Given the description of an element on the screen output the (x, y) to click on. 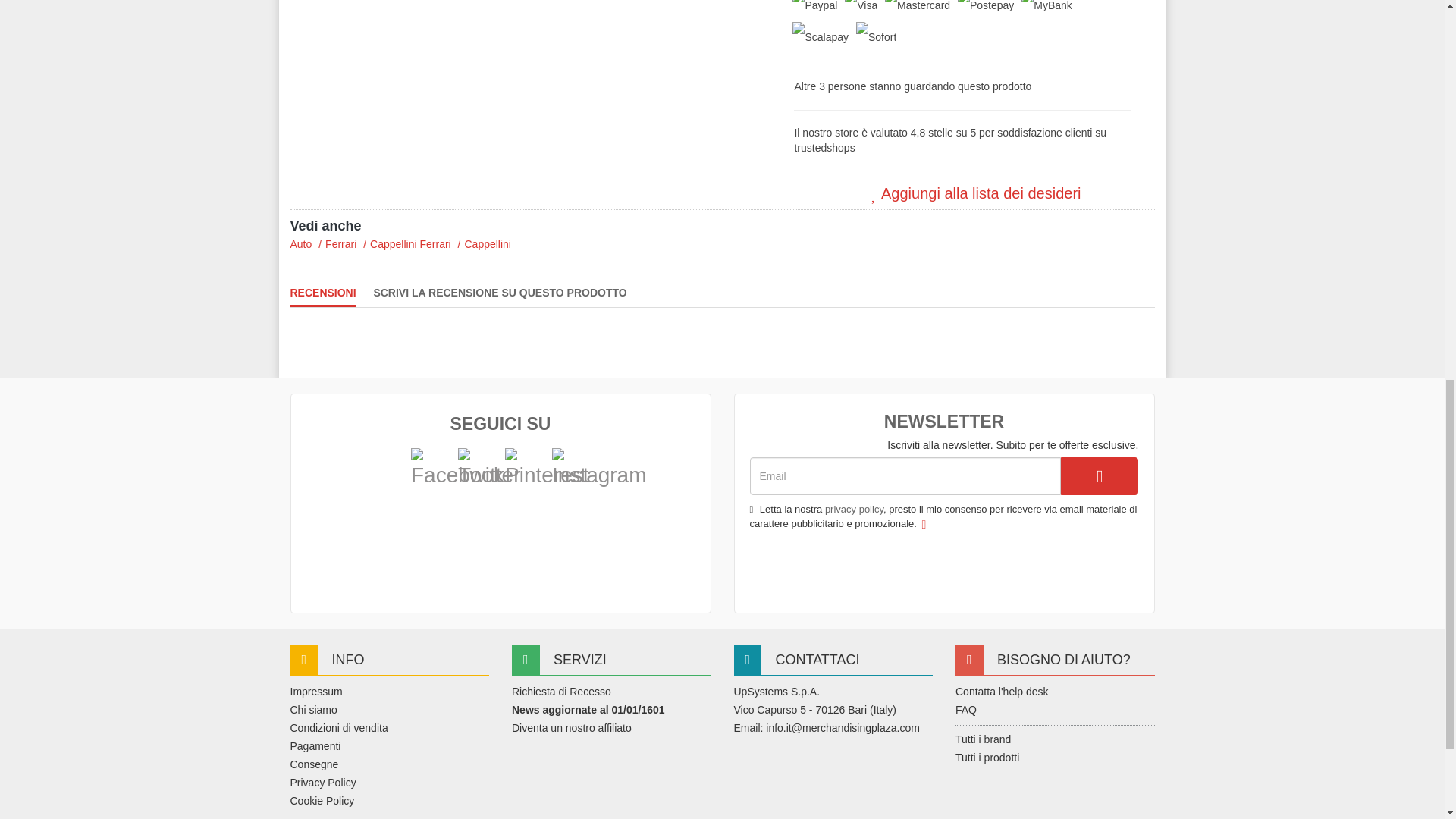
Pinterest (547, 468)
Instagram (570, 466)
Twitter (488, 468)
Facebook (456, 468)
